Given the description of an element on the screen output the (x, y) to click on. 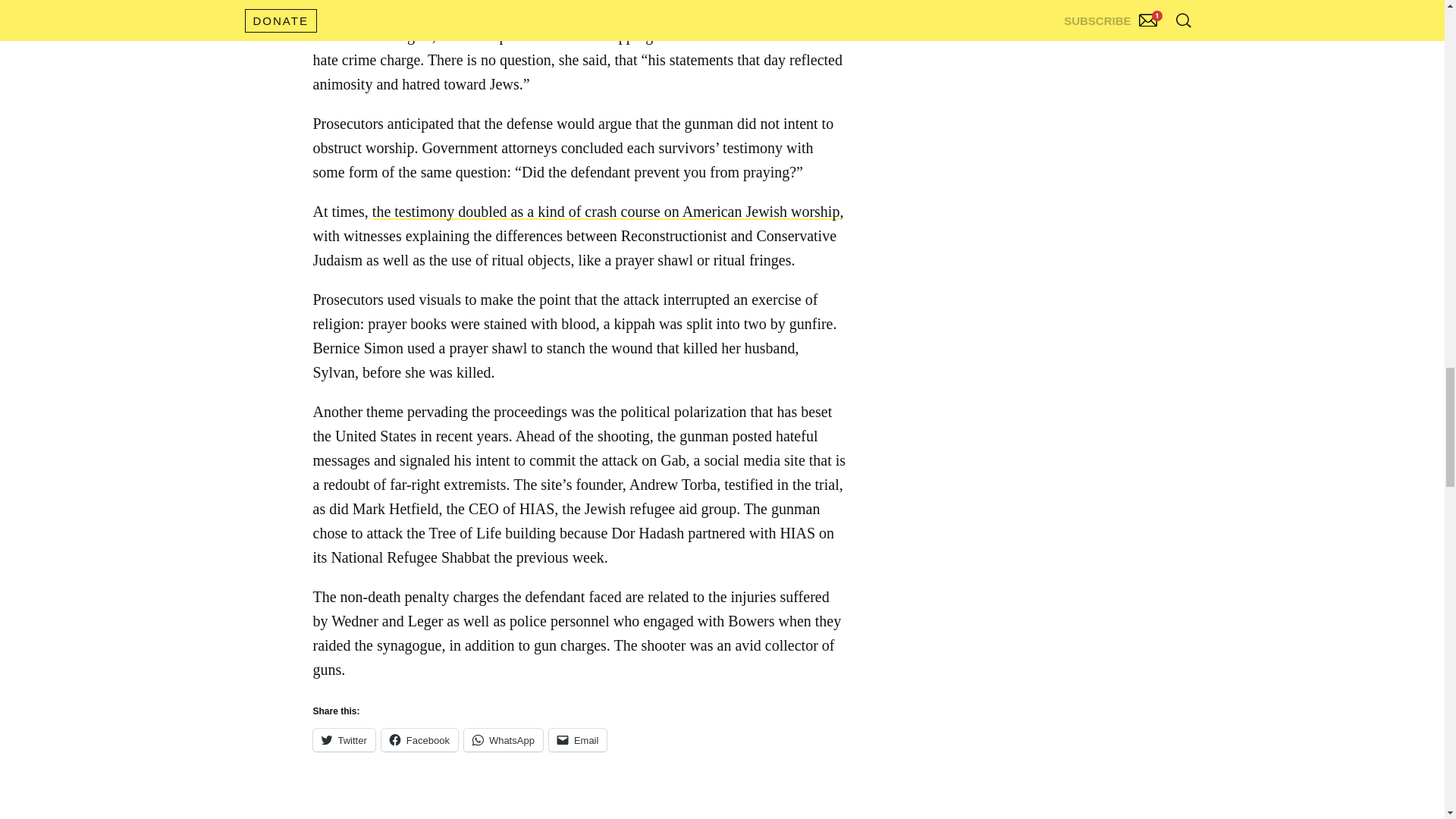
Click to share on WhatsApp (503, 739)
Click to email a link to a friend (577, 739)
Click to share on Facebook (419, 739)
Click to share on Twitter (343, 739)
